Given the description of an element on the screen output the (x, y) to click on. 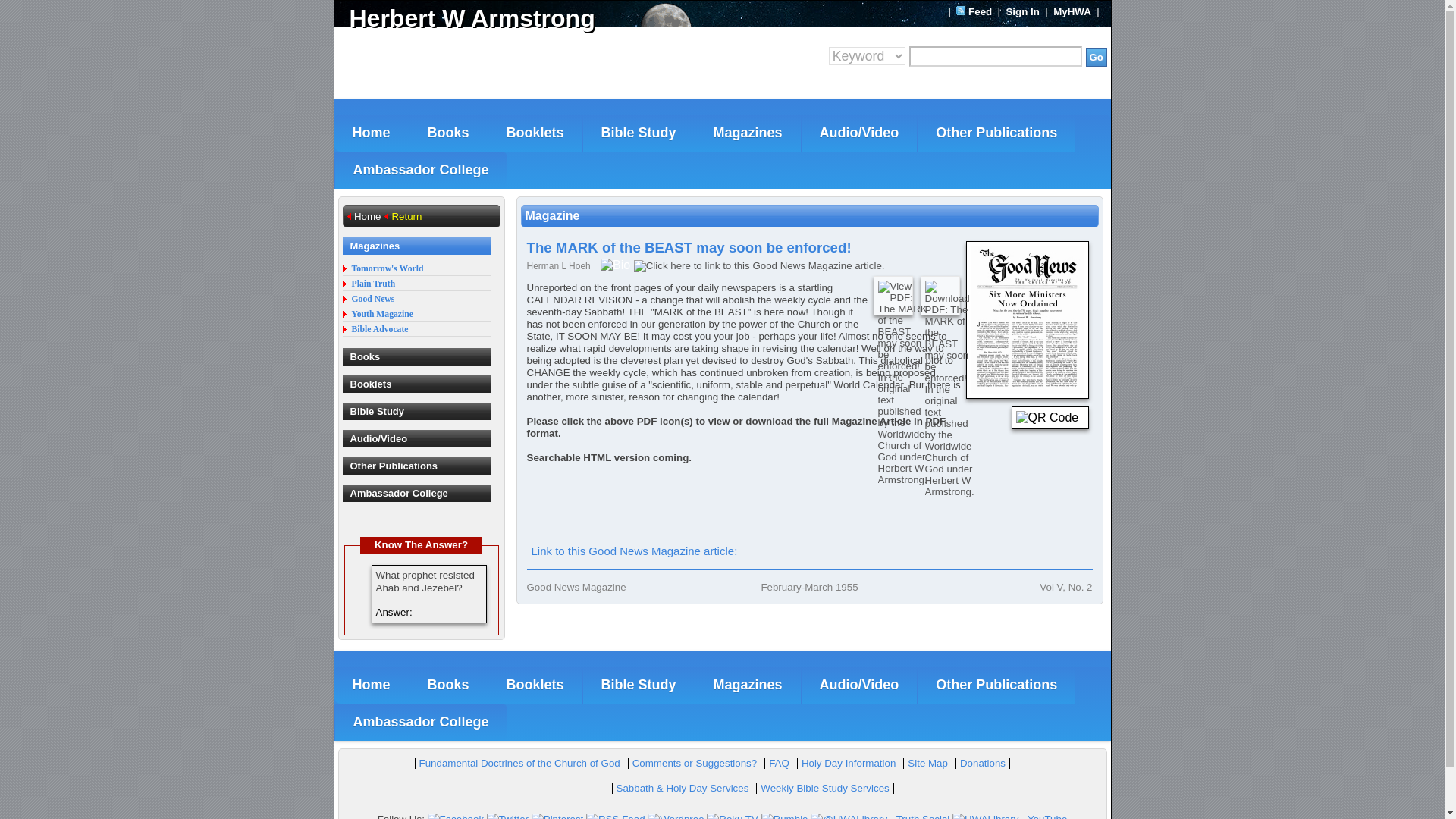
Sign In (1022, 11)
HWALibrary - Twitter (507, 816)
HWALibrary - Facebook (456, 816)
HWALibrary - YouTube (1009, 816)
Booklets (534, 132)
Books (448, 132)
Magazines (747, 132)
Herbert W Armstrong Library (528, 18)
